Given the description of an element on the screen output the (x, y) to click on. 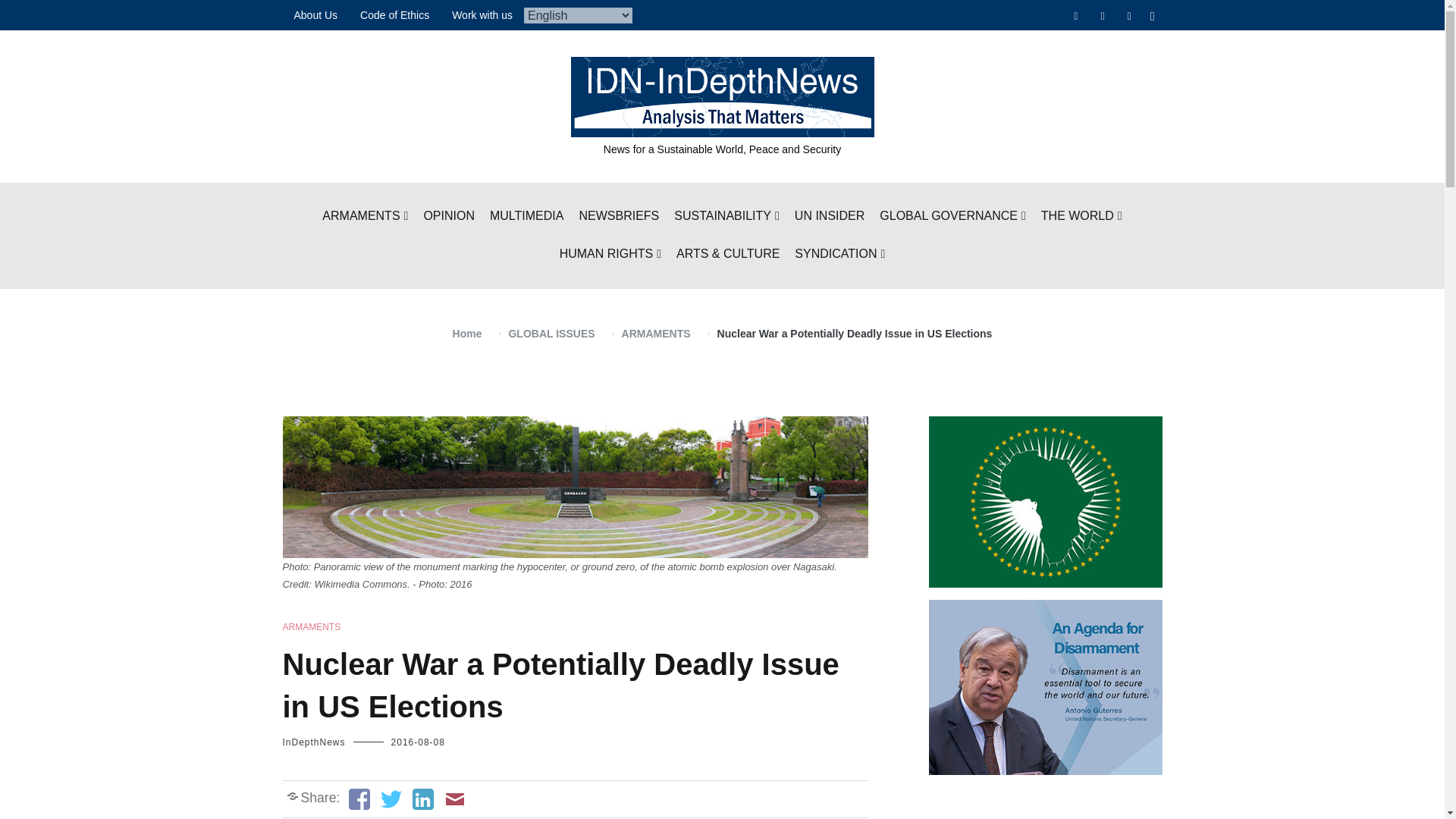
NEWSBRIEFS (618, 216)
About Us (315, 14)
UN INSIDER (829, 216)
OPINION (448, 216)
Work with us (482, 14)
ARMAMENTS (364, 216)
Code of Ethics (395, 14)
SUSTAINABILITY (726, 216)
MULTIMEDIA (526, 216)
GLOBAL GOVERNANCE (952, 216)
